Given the description of an element on the screen output the (x, y) to click on. 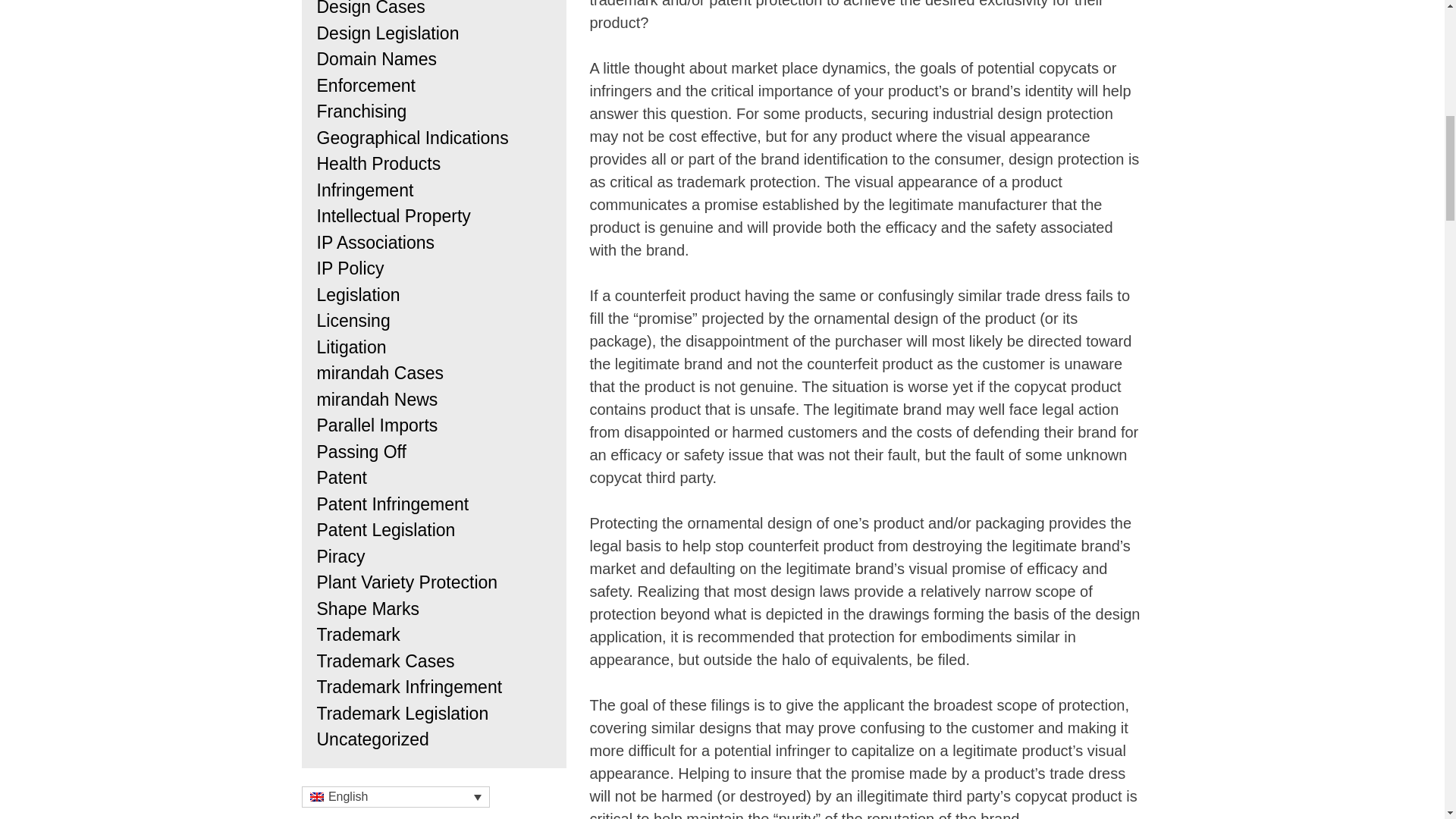
Franchising (362, 111)
Design Legislation (388, 33)
Design Cases (371, 8)
Enforcement (365, 85)
English (315, 796)
Domain Names (377, 58)
